Given the description of an element on the screen output the (x, y) to click on. 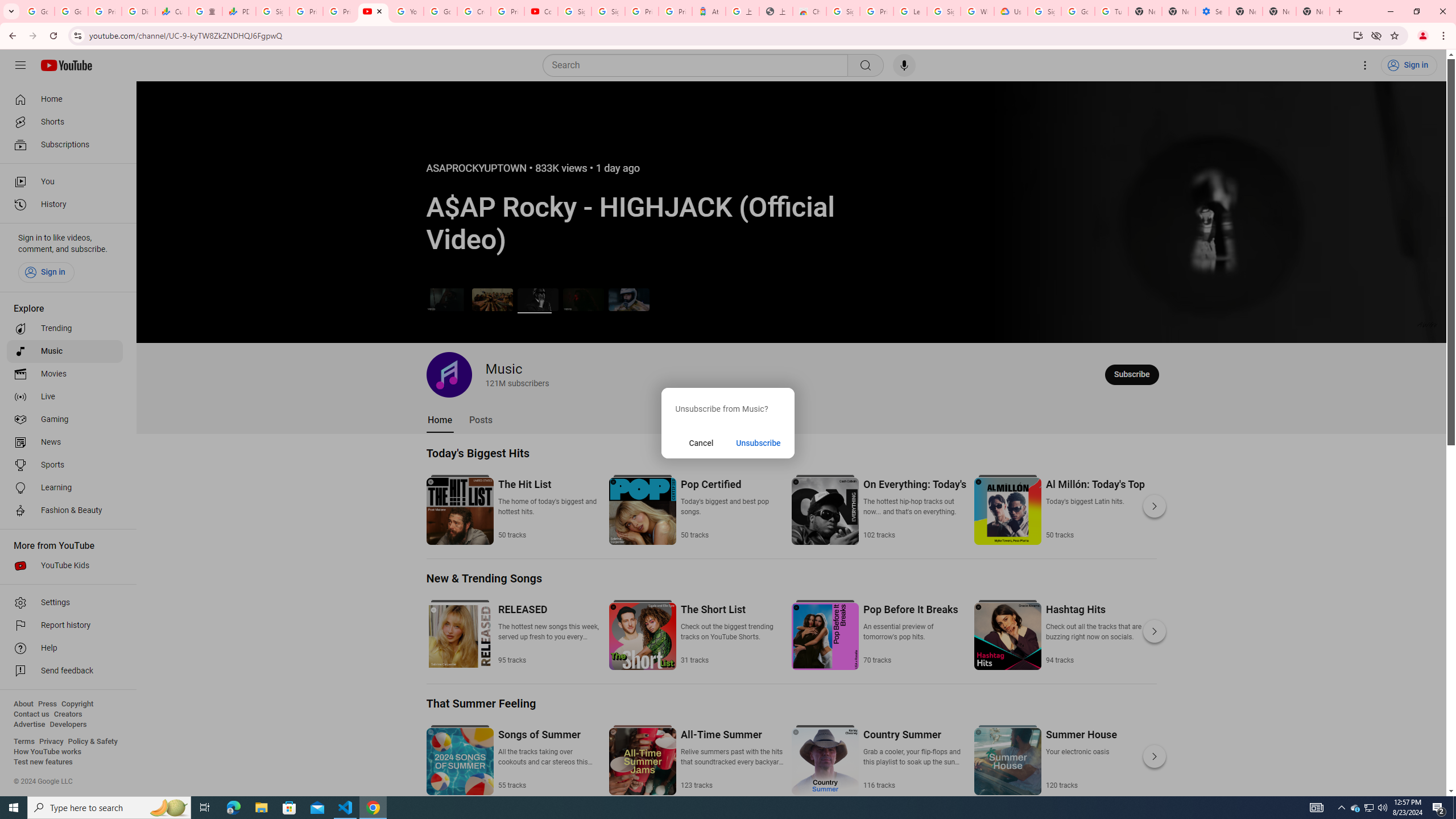
Contact us (31, 714)
Creators (67, 714)
Test new features (42, 761)
New & Trending Songs (484, 578)
Hozier - Nobody's Soldier (Official Video) (583, 299)
Hozier - Nobody's Soldier (Official Video) (583, 299)
A$AP Rocky - HIGHJACK (Official Video) (537, 299)
Shorts (64, 121)
Currencies - Google Finance (171, 11)
Who are Google's partners? - Privacy and conditions - Google (976, 11)
